Given the description of an element on the screen output the (x, y) to click on. 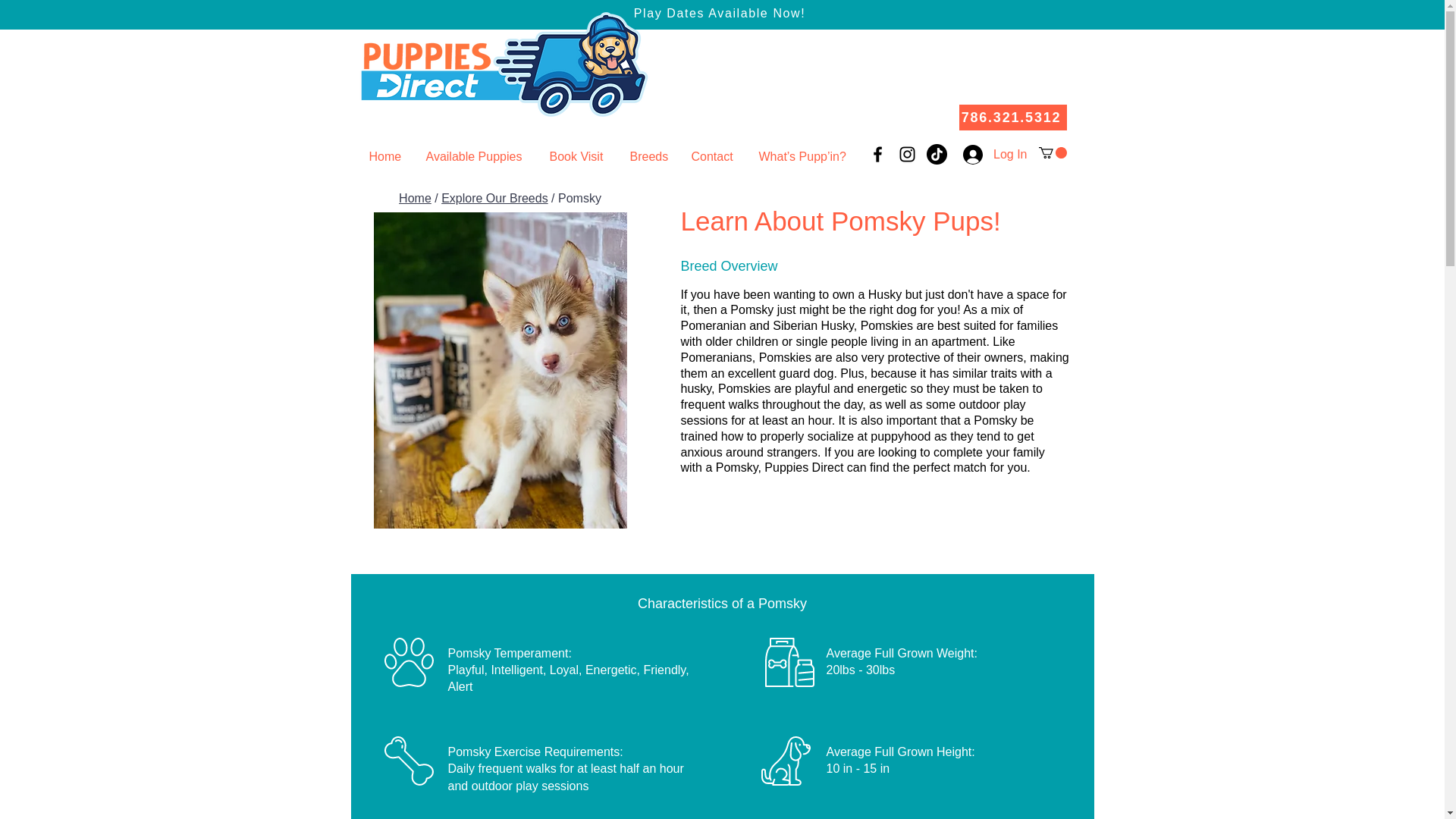
Available Puppies (475, 156)
Home (386, 156)
Home (414, 197)
Explore Our Breeds (494, 197)
Contact (712, 156)
Breeds (648, 156)
Book Visit (578, 156)
Play Dates Available Now! (719, 12)
Log In (994, 154)
786.321.5312 (1011, 117)
